Given the description of an element on the screen output the (x, y) to click on. 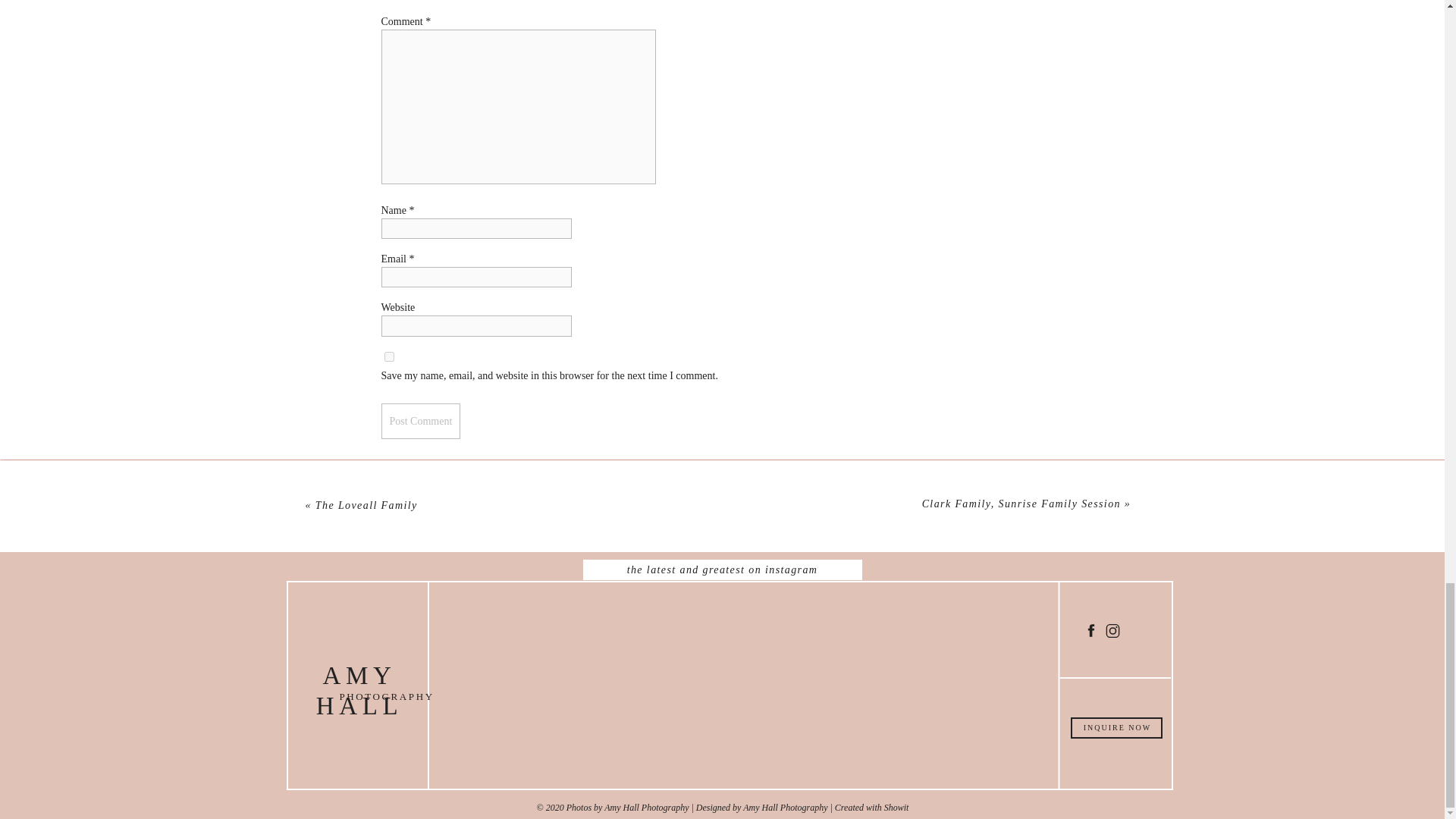
Post Comment (420, 420)
The Loveall Family (366, 505)
INQUIRE NOW (1117, 733)
AMY HALL (358, 683)
yes (388, 356)
Post Comment (420, 420)
Clark Family, Sunrise Family Session (1021, 503)
